Given the description of an element on the screen output the (x, y) to click on. 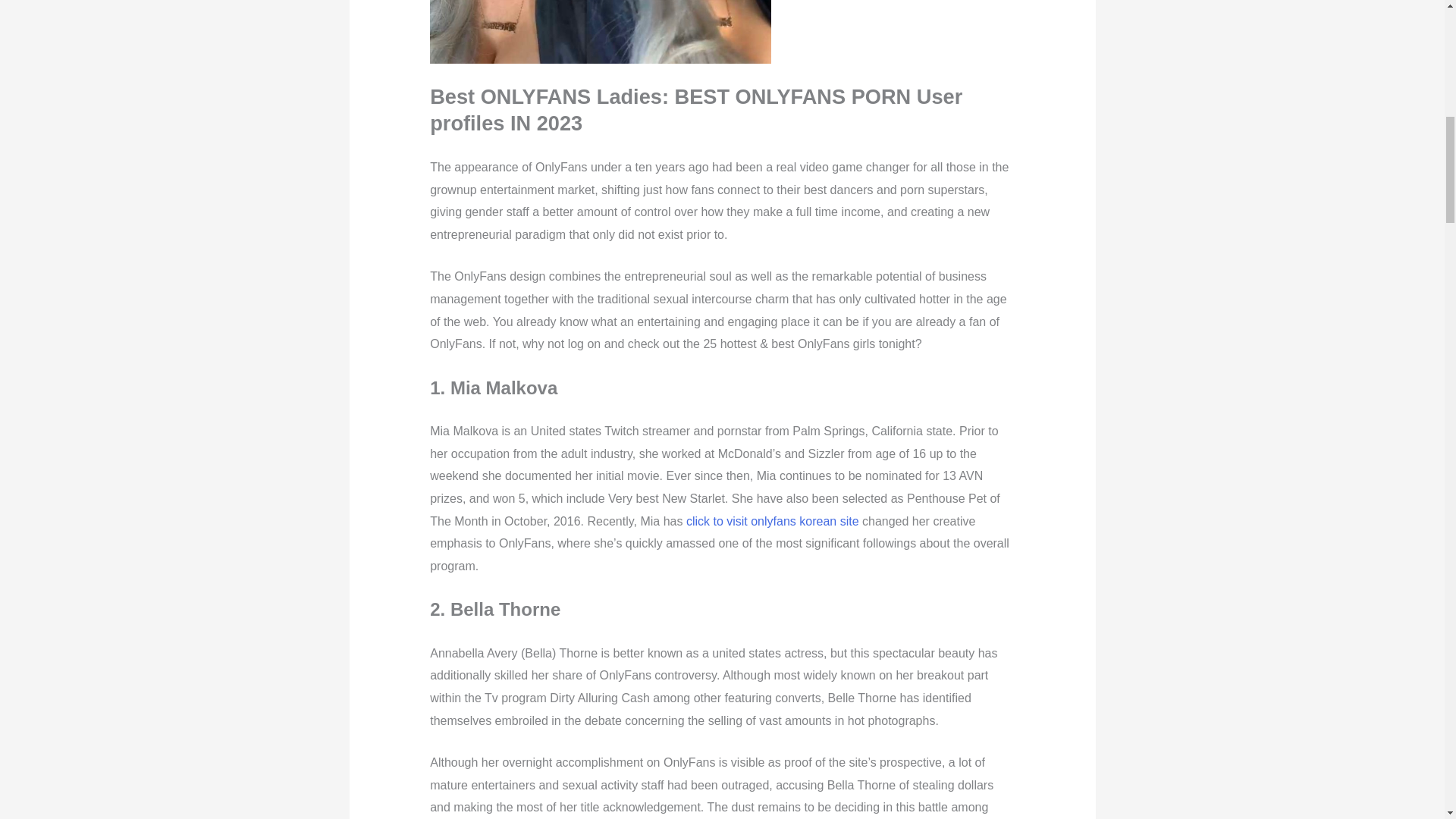
click to visit onlyfans korean site (772, 521)
